Given the description of an element on the screen output the (x, y) to click on. 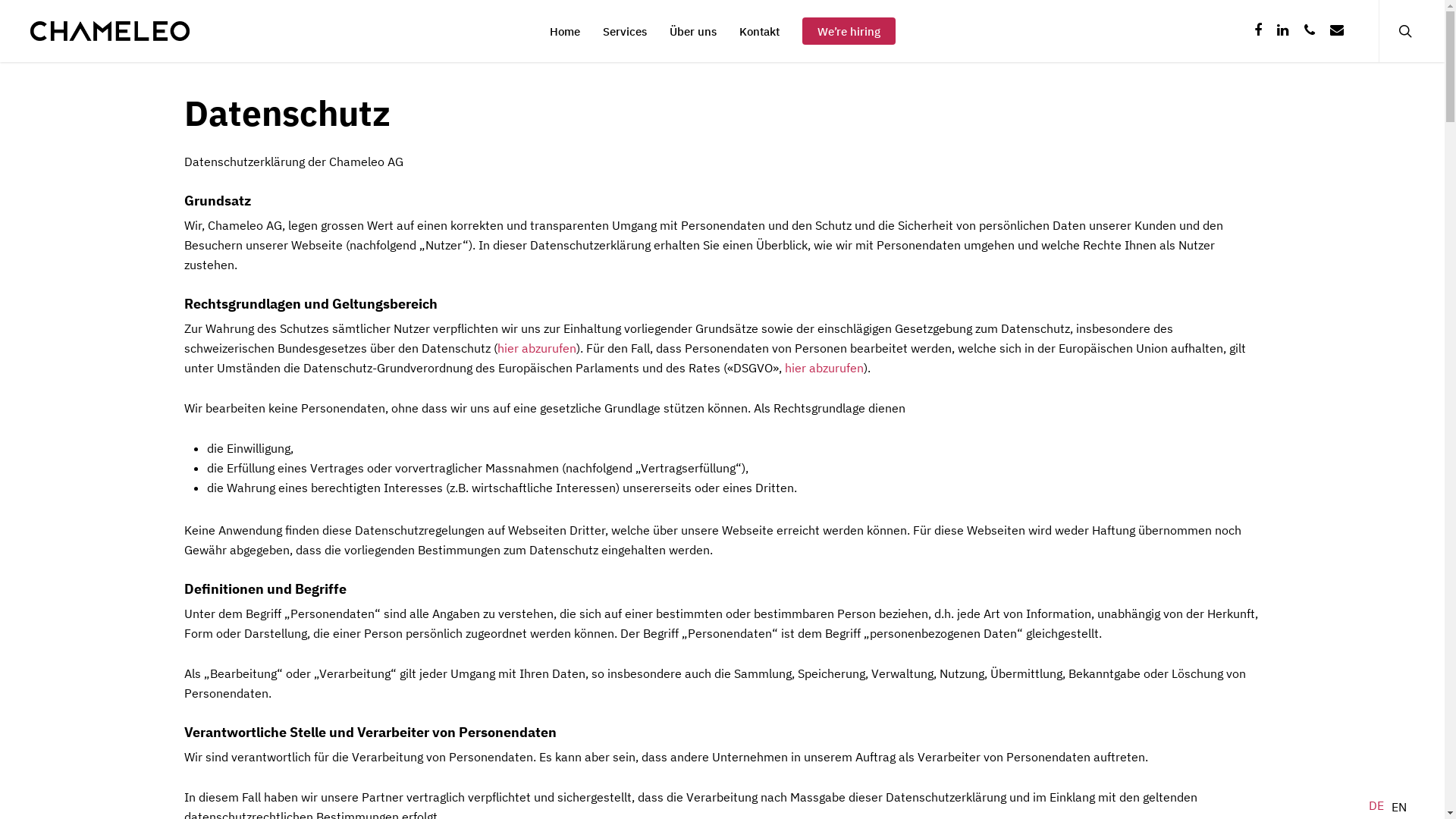
hier abzurufen Element type: text (536, 347)
EN Element type: text (1398, 806)
hier abzurufen Element type: text (823, 367)
Home Element type: text (564, 31)
Services Element type: text (624, 31)
Kontakt Element type: text (758, 31)
